Given the description of an element on the screen output the (x, y) to click on. 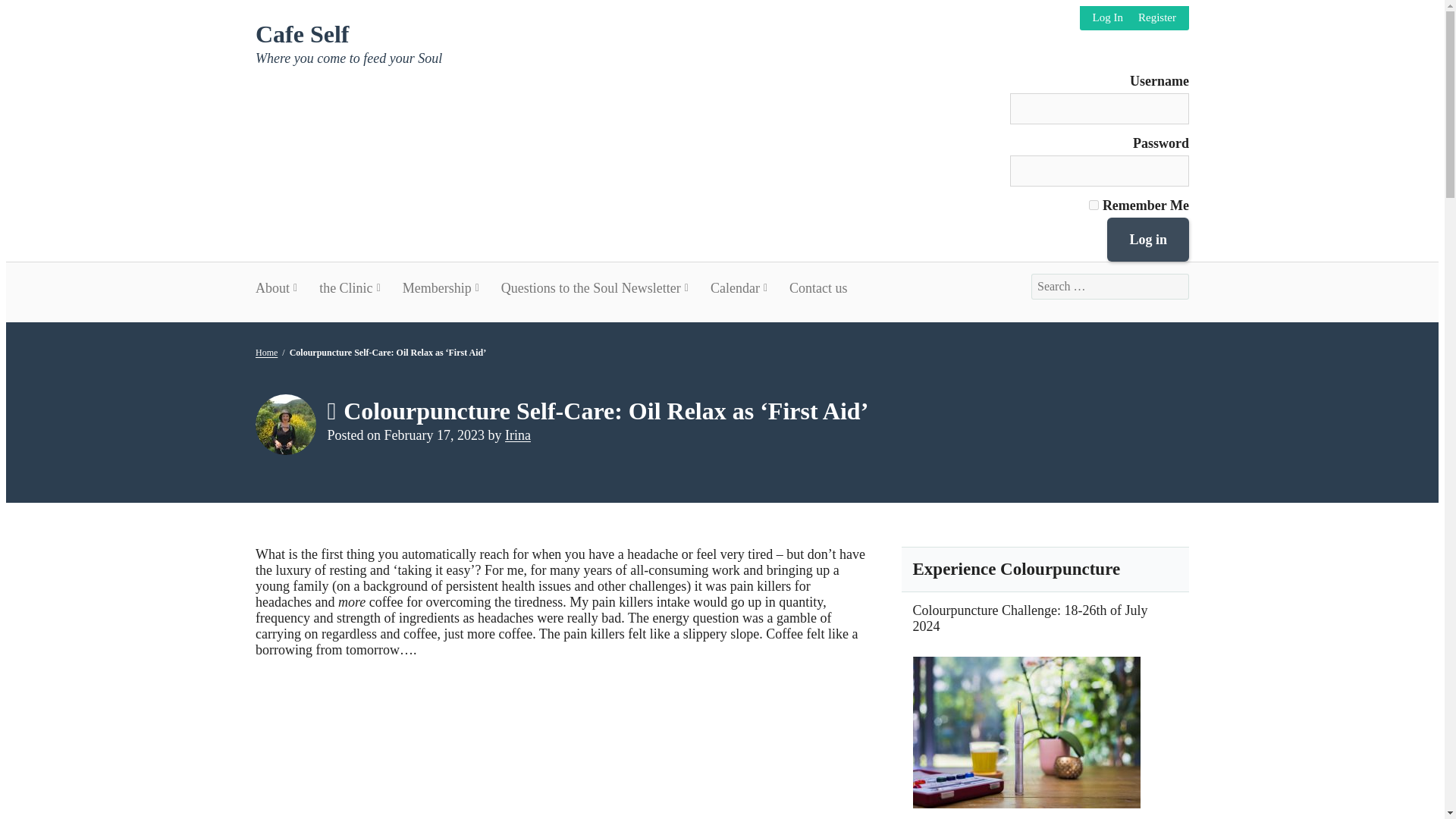
Cafe Self (302, 32)
Calendar (737, 287)
Register (1157, 18)
Membership (440, 287)
Log in (1147, 239)
forever (1094, 204)
Questions to the Soul Newsletter (593, 287)
Log In (1107, 18)
the Clinic (349, 287)
